Given the description of an element on the screen output the (x, y) to click on. 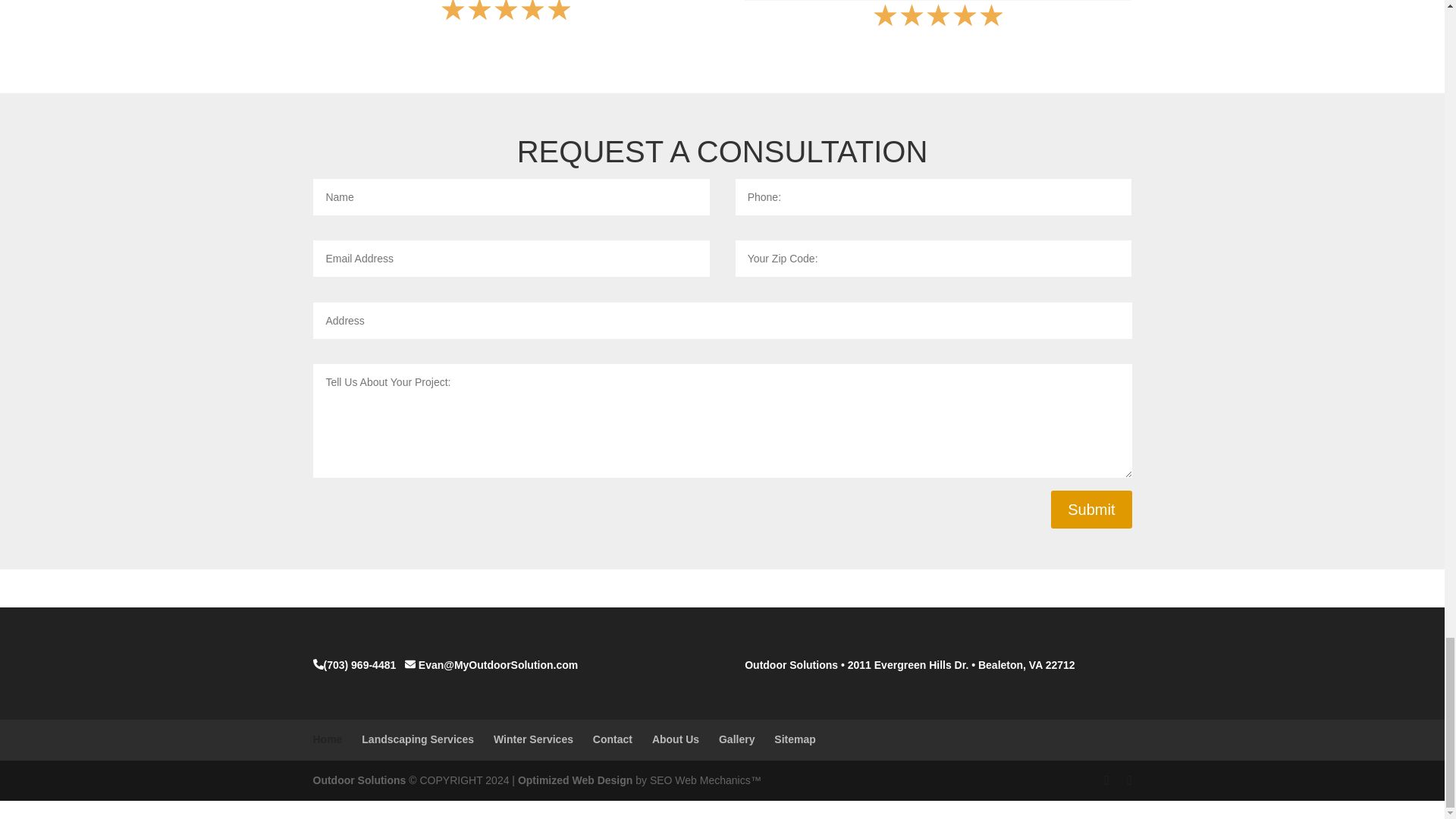
Landscape and Hardscape Design, Installation and Maintenance (359, 779)
